Given the description of an element on the screen output the (x, y) to click on. 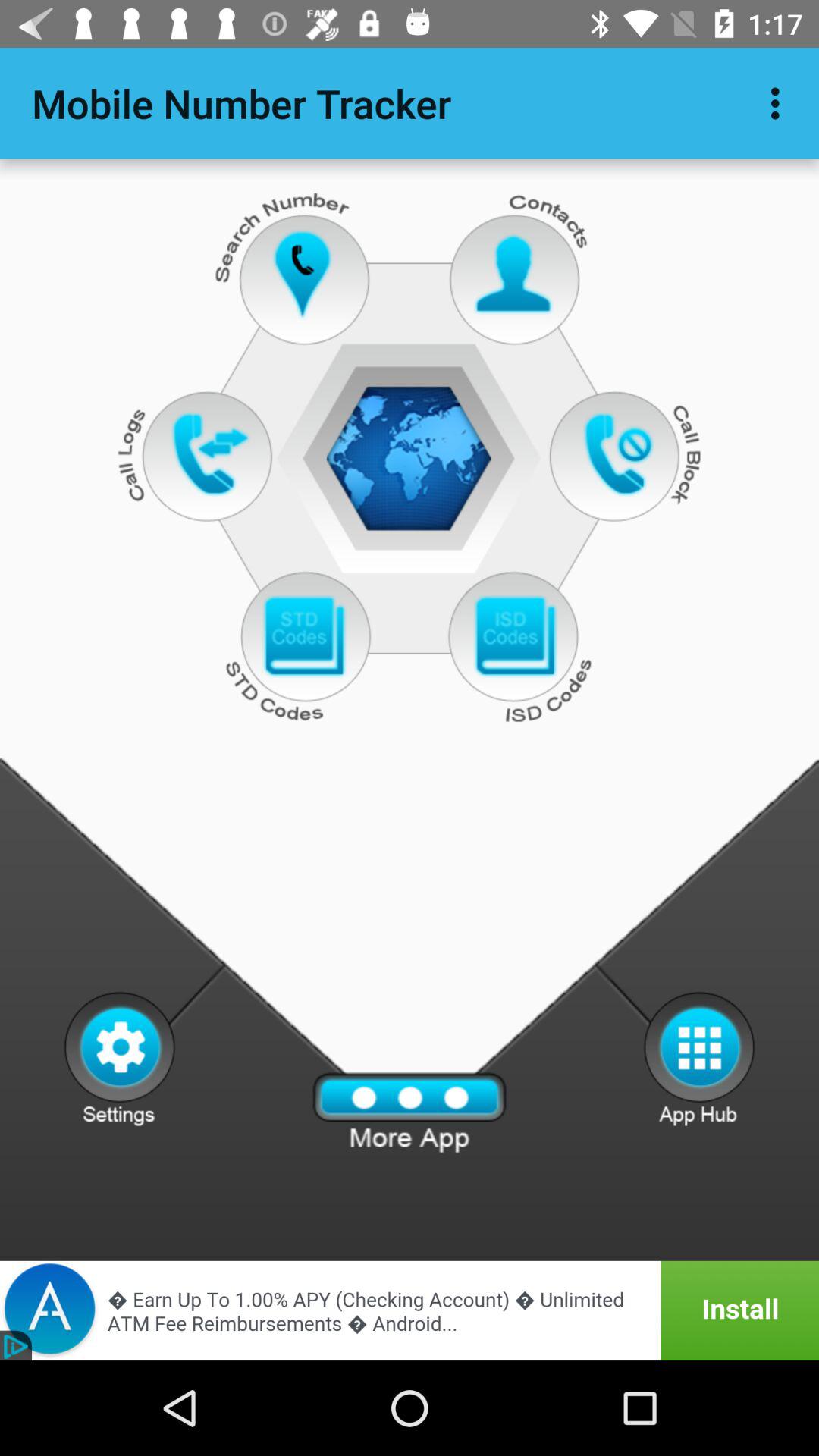
call logs (210, 453)
